Given the description of an element on the screen output the (x, y) to click on. 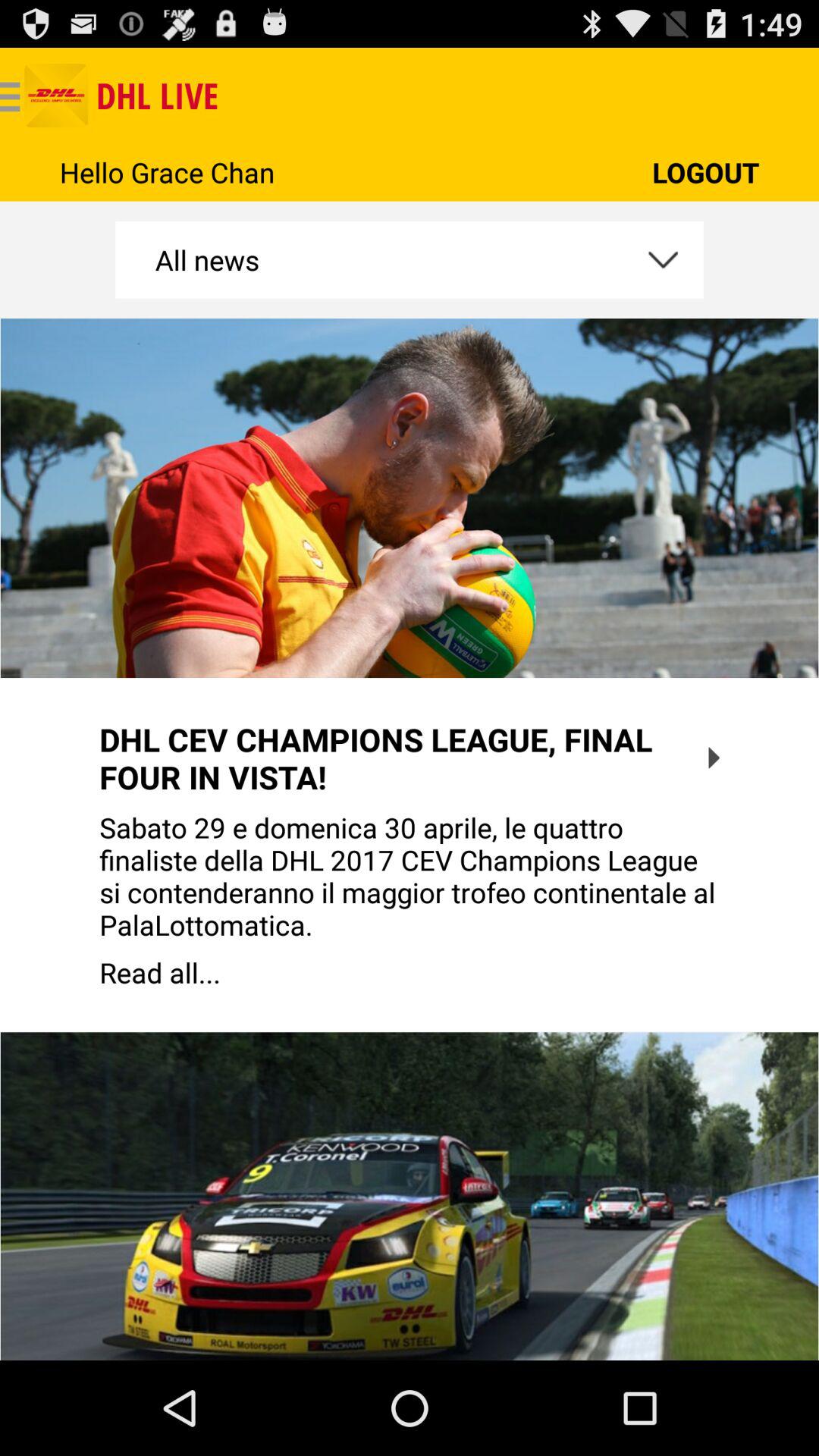
flip to the logout item (705, 172)
